Given the description of an element on the screen output the (x, y) to click on. 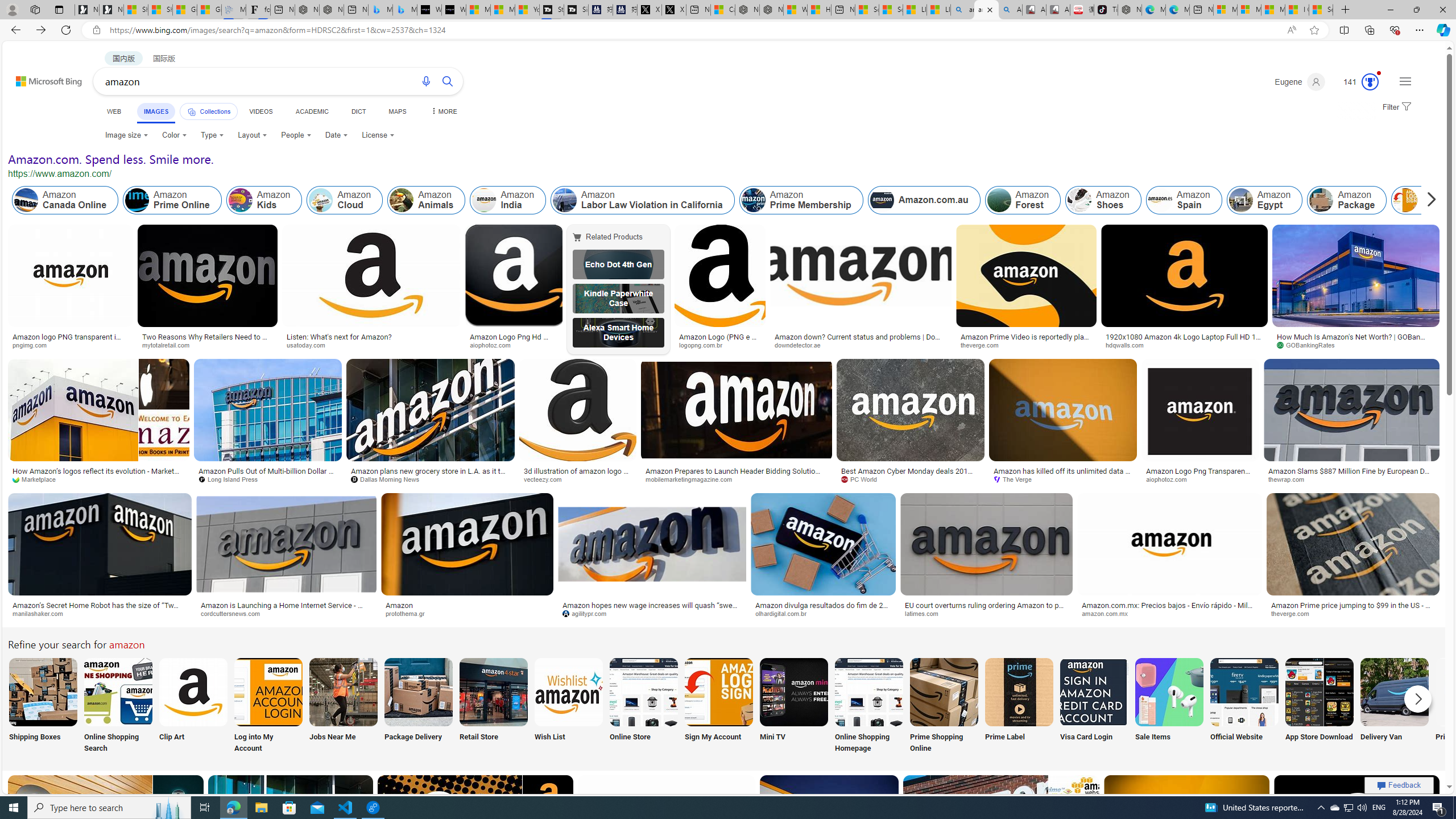
PC World (910, 479)
GOBankingRates (1355, 344)
Nordace - #1 Japanese Best-Seller - Siena Smart Backpack (330, 9)
App Store Download (1319, 706)
How Much Is Amazon's Net Worth? | GOBankingRates (1355, 340)
Amazon Retail Store Retail Store (493, 706)
Shipping Boxes (42, 706)
vecteezy.com (577, 479)
IMAGES (156, 111)
downdetector.ae (801, 344)
